Given the description of an element on the screen output the (x, y) to click on. 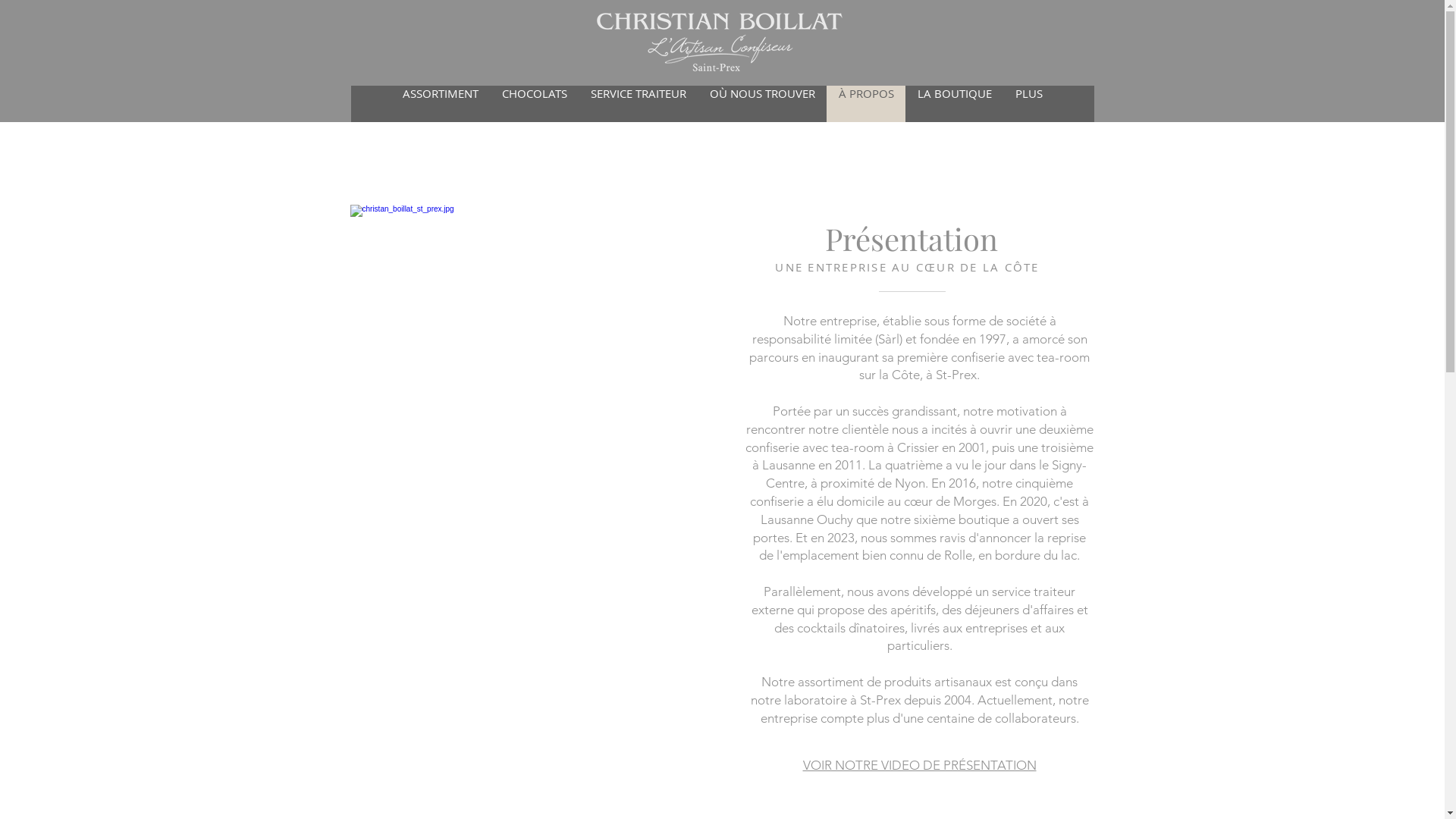
SERVICE TRAITEUR Element type: text (636, 103)
LA BOUTIQUE Element type: text (954, 103)
ASSORTIMENT Element type: text (440, 103)
CHOCOLATS Element type: text (533, 103)
